Given the description of an element on the screen output the (x, y) to click on. 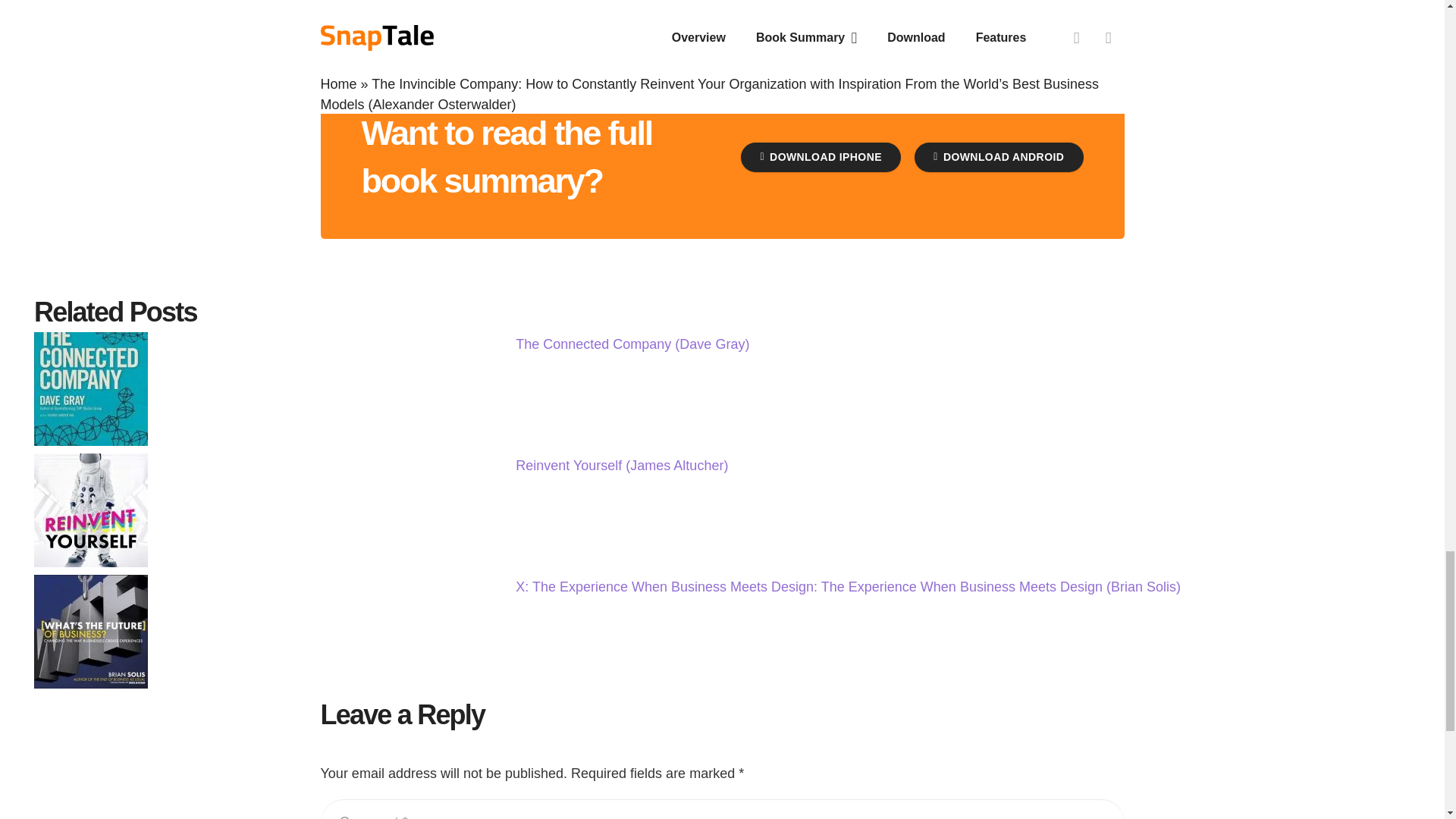
DOWNLOAD IPHONE (821, 156)
